Given the description of an element on the screen output the (x, y) to click on. 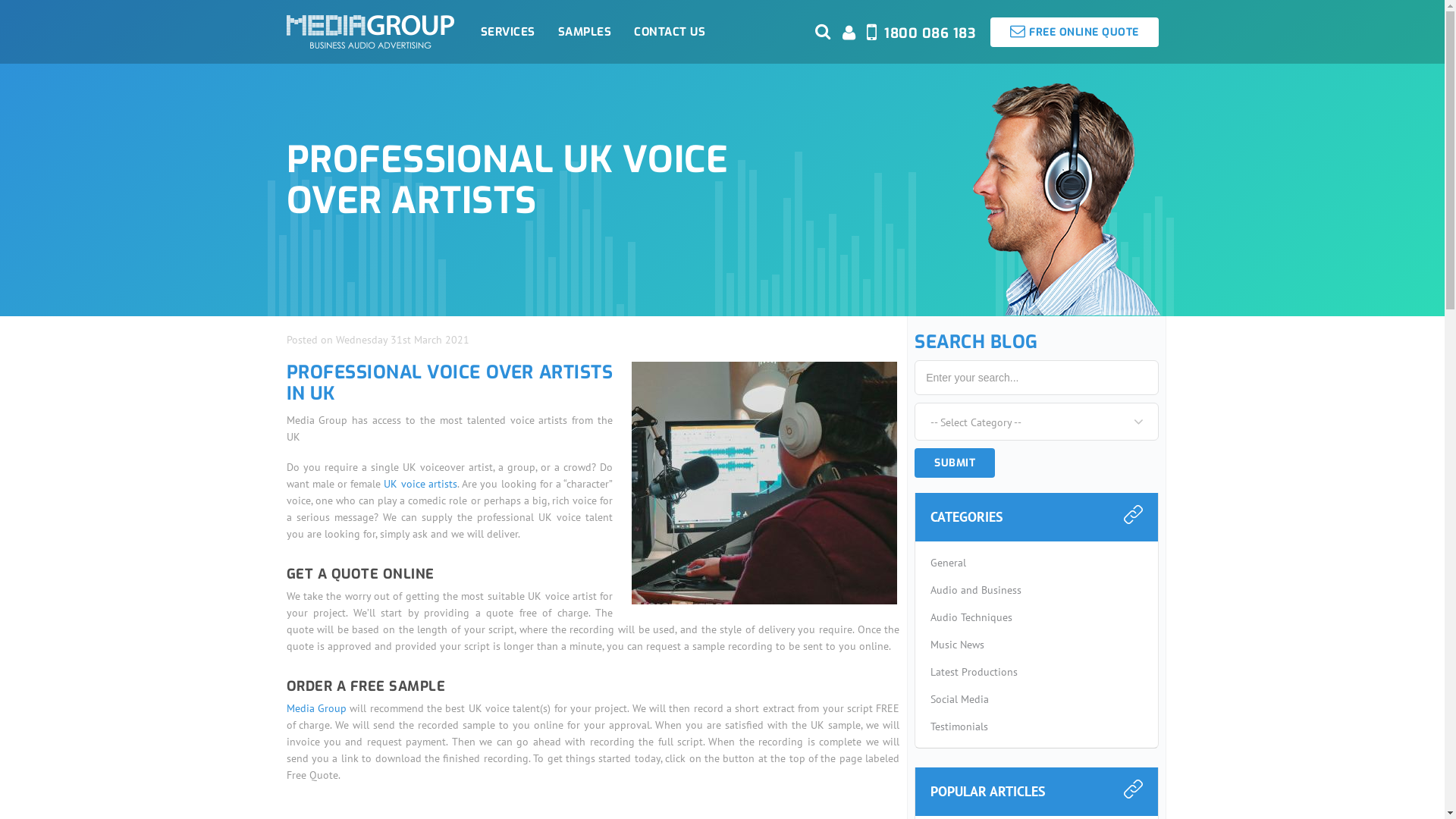
1800 086 183 Element type: text (928, 34)
General Element type: text (1036, 562)
Social Media Element type: text (1036, 698)
Music News Element type: text (1036, 644)
Latest Productions Element type: text (1036, 671)
SERVICES Element type: text (507, 31)
SAMPLES Element type: text (584, 31)
POPULAR ARTICLES Element type: text (1024, 791)
FREE ONLINE QUOTE Element type: text (1074, 32)
Media Group Element type: text (316, 708)
Testimonials Element type: text (1036, 726)
Audio Techniques Element type: text (1036, 616)
CATEGORIES Element type: text (1024, 517)
UK voice artists Element type: text (419, 483)
Audio and Business Element type: text (1036, 589)
CONTACT US Element type: text (669, 31)
SUBMIT Element type: text (954, 462)
